Given the description of an element on the screen output the (x, y) to click on. 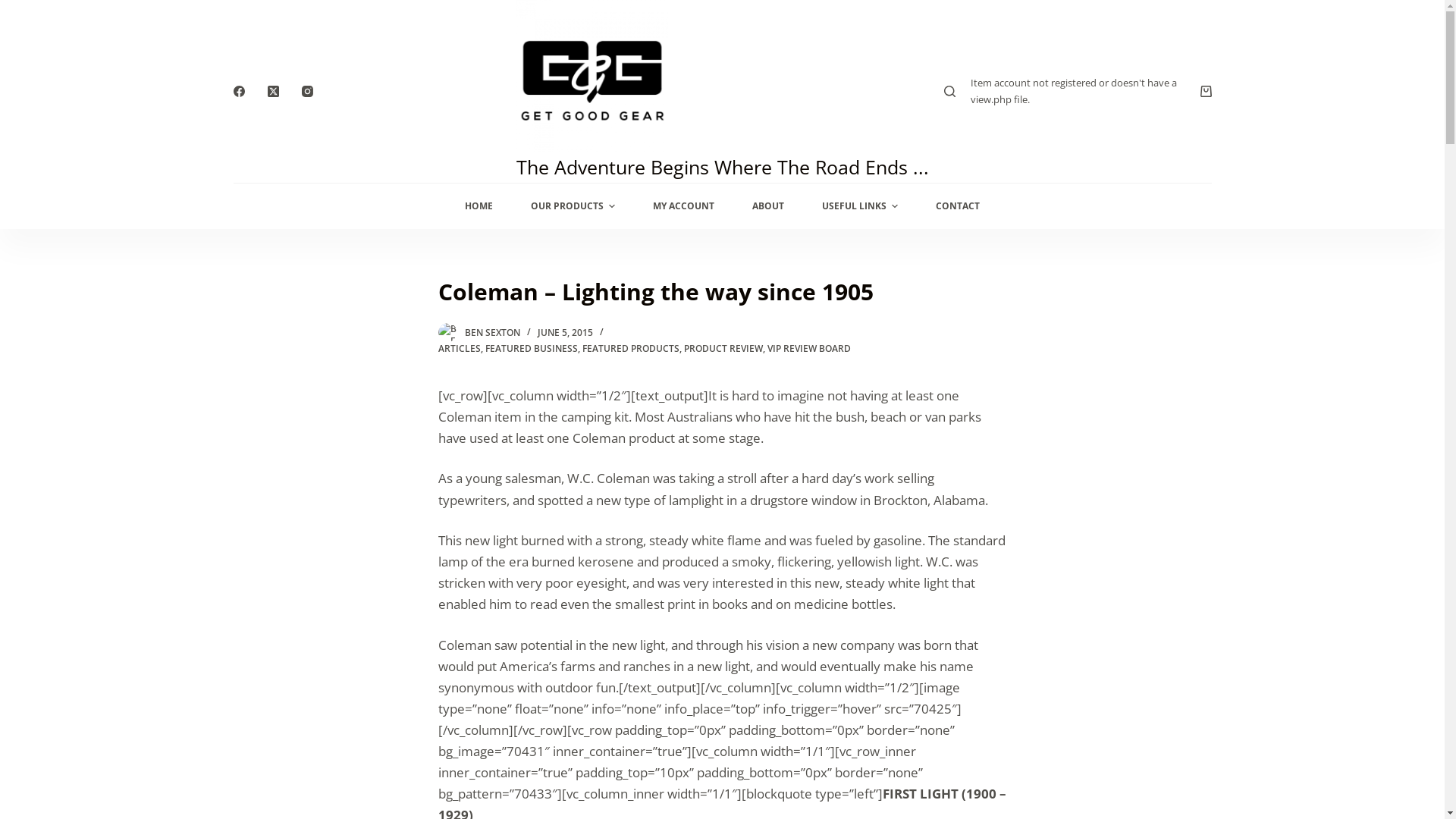
About Organization Element type: text (290, 535)
MY ACCOUNT Element type: text (683, 206)
CONTACT US Element type: text (1036, 414)
VIP REVIEW BOARD Element type: text (808, 348)
PRODUCT REVIEW Element type: text (723, 348)
HOME Element type: text (478, 206)
Organisation Team Element type: text (542, 556)
Introduction Element type: text (522, 535)
The Adventure Begins Where The Road Ends ... Element type: text (721, 166)
Press Enquiries Element type: text (531, 578)
Our Clients Element type: text (266, 556)
Cookies Policy Element type: text (783, 556)
Terms & Conditions Element type: text (799, 578)
Creative Themes Element type: text (493, 791)
Skip to content Element type: text (15, 7)
ARTICLES Element type: text (459, 348)
FEATURED BUSINESS Element type: text (531, 348)
OUR PRODUCTS Element type: text (572, 206)
ABOUT US Element type: text (1107, 414)
USEFUL LINKS Element type: text (859, 206)
Privacy Policy Element type: text (780, 535)
FEATURED PRODUCTS Element type: text (630, 348)
CONTACT Element type: text (957, 206)
MY ACCOUNT Element type: text (1180, 414)
BEN SEXTON Element type: text (491, 332)
Our Partners Element type: text (271, 578)
SHOP Element type: text (975, 414)
ABOUT Element type: text (768, 206)
